Given the description of an element on the screen output the (x, y) to click on. 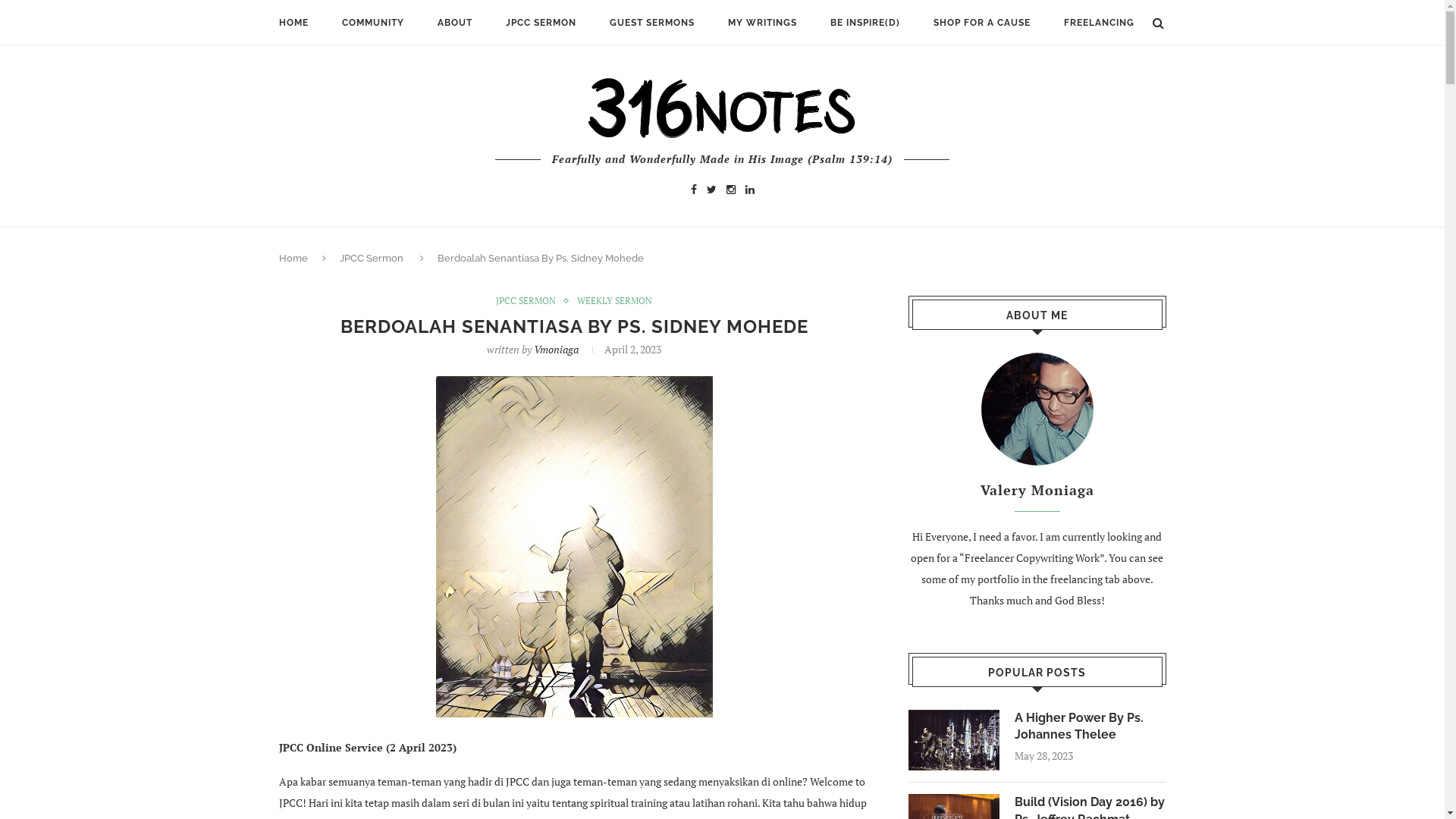
WEEKLY SERMON Element type: text (614, 300)
BE INSPIRE(D) Element type: text (864, 22)
Vmoniaga Element type: text (555, 349)
SHOP FOR A CAUSE Element type: text (980, 22)
Home Element type: text (293, 257)
Build (Vision Day 2016) by Ps. Jeffrey Rachmat Element type: hover (953, 800)
JPCC SERMON Element type: text (529, 300)
ABOUT Element type: text (453, 22)
A Higher Power By Ps. Johannes Thelee Element type: hover (953, 716)
GUEST SERMONS Element type: text (651, 22)
JPCC Sermon Element type: text (371, 257)
HOME Element type: text (293, 22)
FREELANCING Element type: text (1098, 22)
COMMUNITY Element type: text (372, 22)
MY WRITINGS Element type: text (762, 22)
A Higher Power By Ps. Johannes Thelee Element type: text (1090, 726)
JPCC SERMON Element type: text (540, 22)
